Given the description of an element on the screen output the (x, y) to click on. 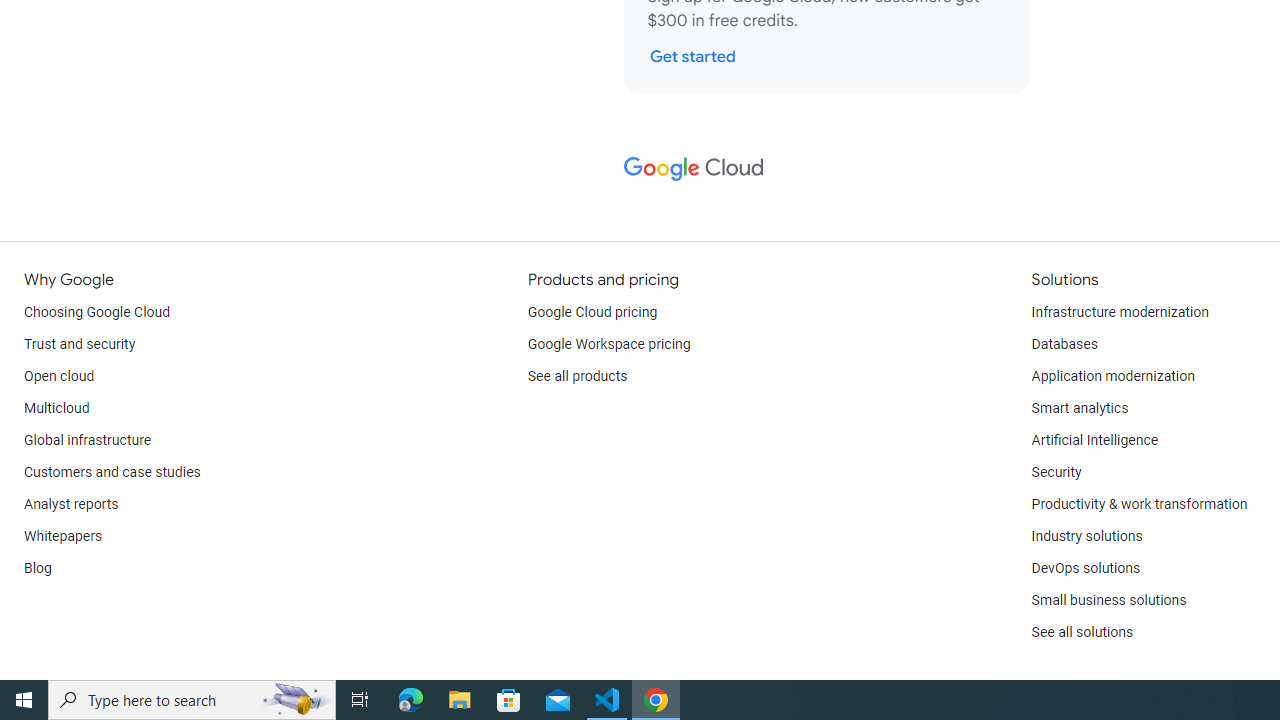
Industry solutions (1086, 536)
Databases (1064, 344)
Security (1055, 472)
Google Cloud pricing (592, 312)
Infrastructure modernization (1119, 312)
Small business solutions (1108, 600)
Blog (38, 568)
Google Workspace pricing (609, 344)
DevOps solutions (1085, 568)
Open cloud (59, 376)
Customers and case studies (112, 472)
